Given the description of an element on the screen output the (x, y) to click on. 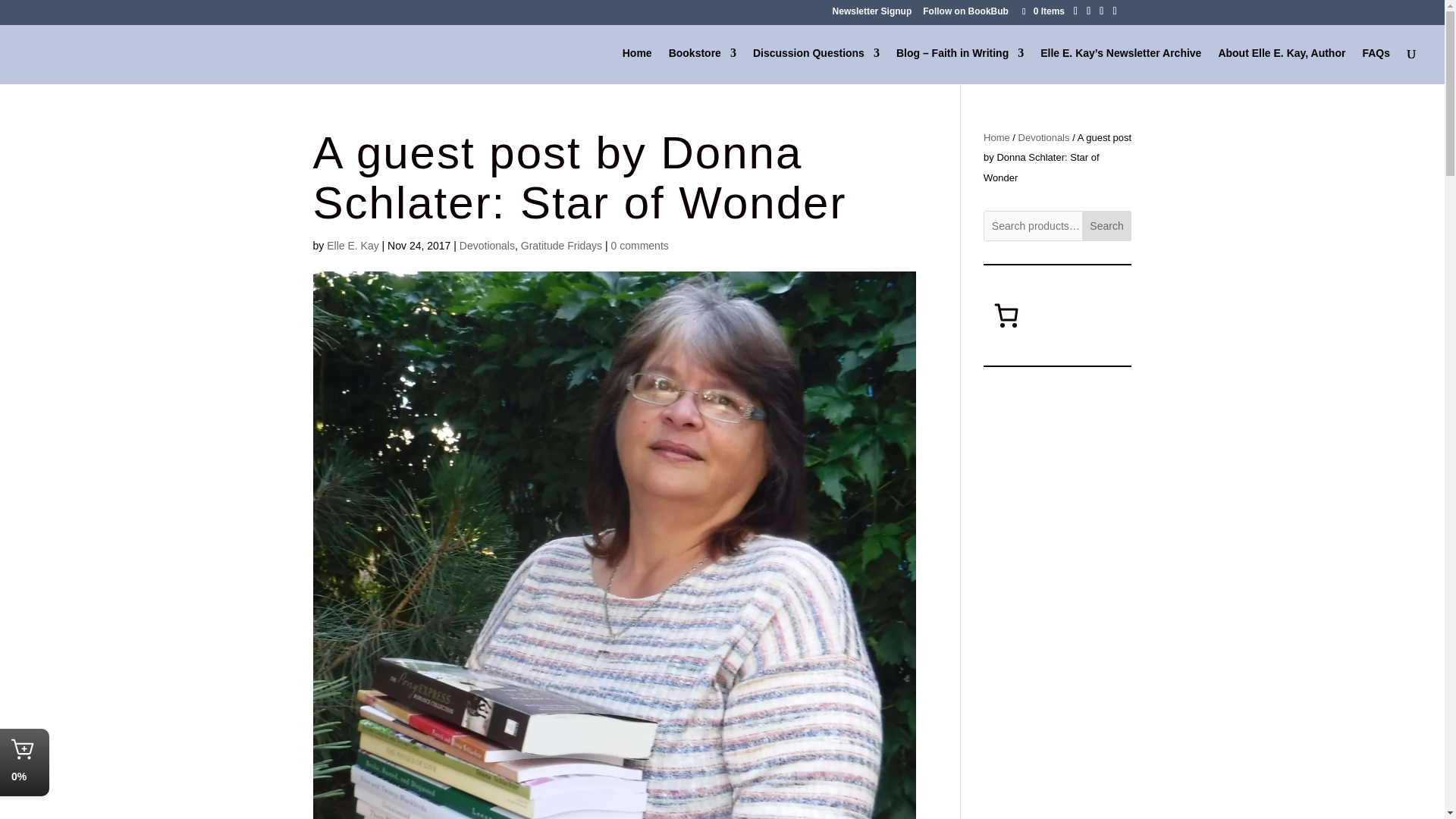
0 comments (639, 245)
Gratitude Fridays (561, 245)
Newsletter Signup (872, 14)
0 Items (1042, 10)
Devotionals (487, 245)
Elle E. Kay (352, 245)
Discussion Questions (815, 65)
Follow on BookBub (966, 14)
About Elle E. Kay, Author (1281, 65)
Posts by Elle E. Kay (352, 245)
Bookstore (702, 65)
